Given the description of an element on the screen output the (x, y) to click on. 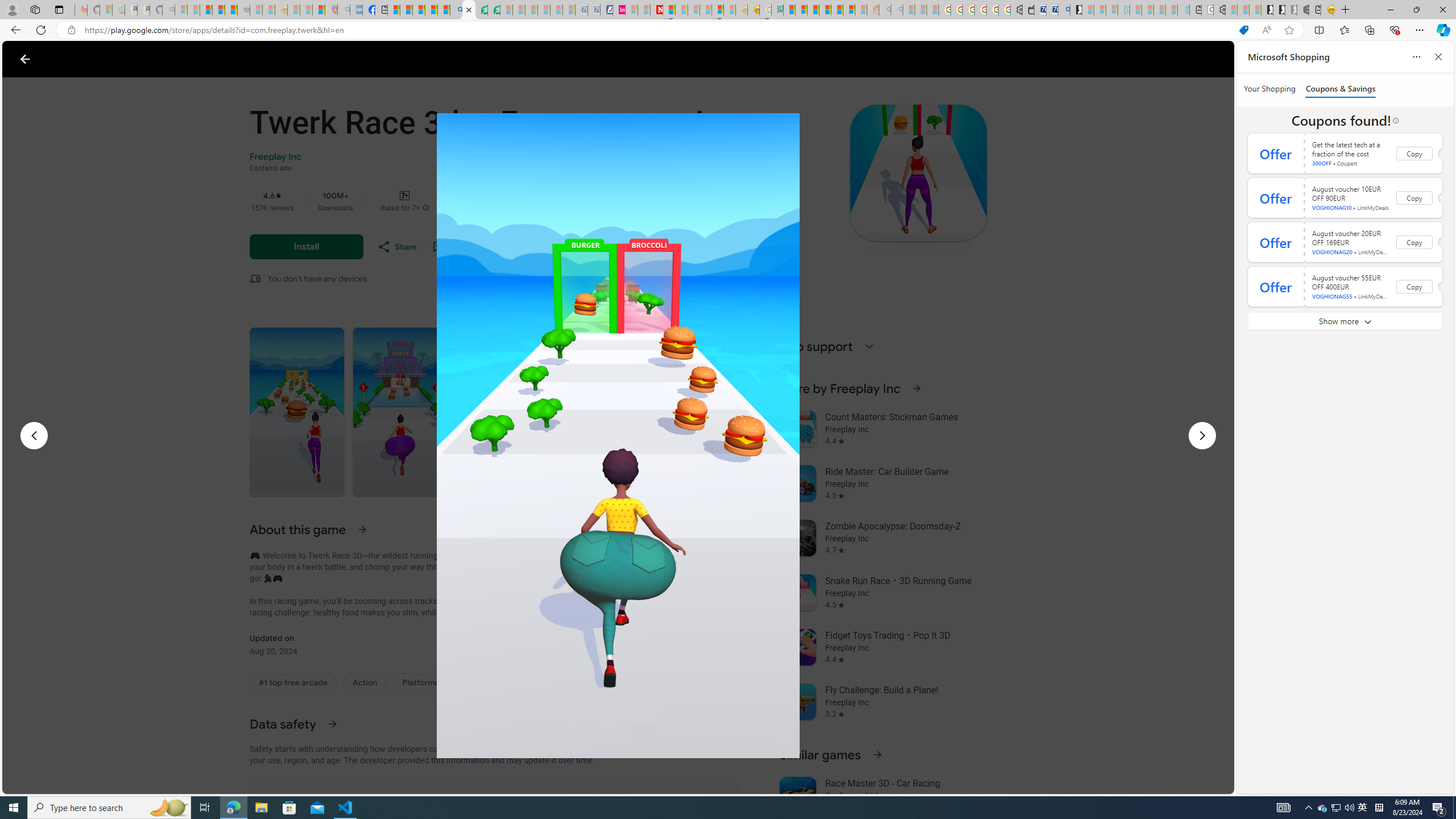
New Report Confirms 2023 Was Record Hot | Watch (230, 9)
More info about this content rating (425, 207)
Latest Politics News & Archive | Newsweek.com (656, 9)
Add to wishlist (467, 246)
Previous (34, 435)
This site has coupons! Shopping in Microsoft Edge (1243, 29)
